Given the description of an element on the screen output the (x, y) to click on. 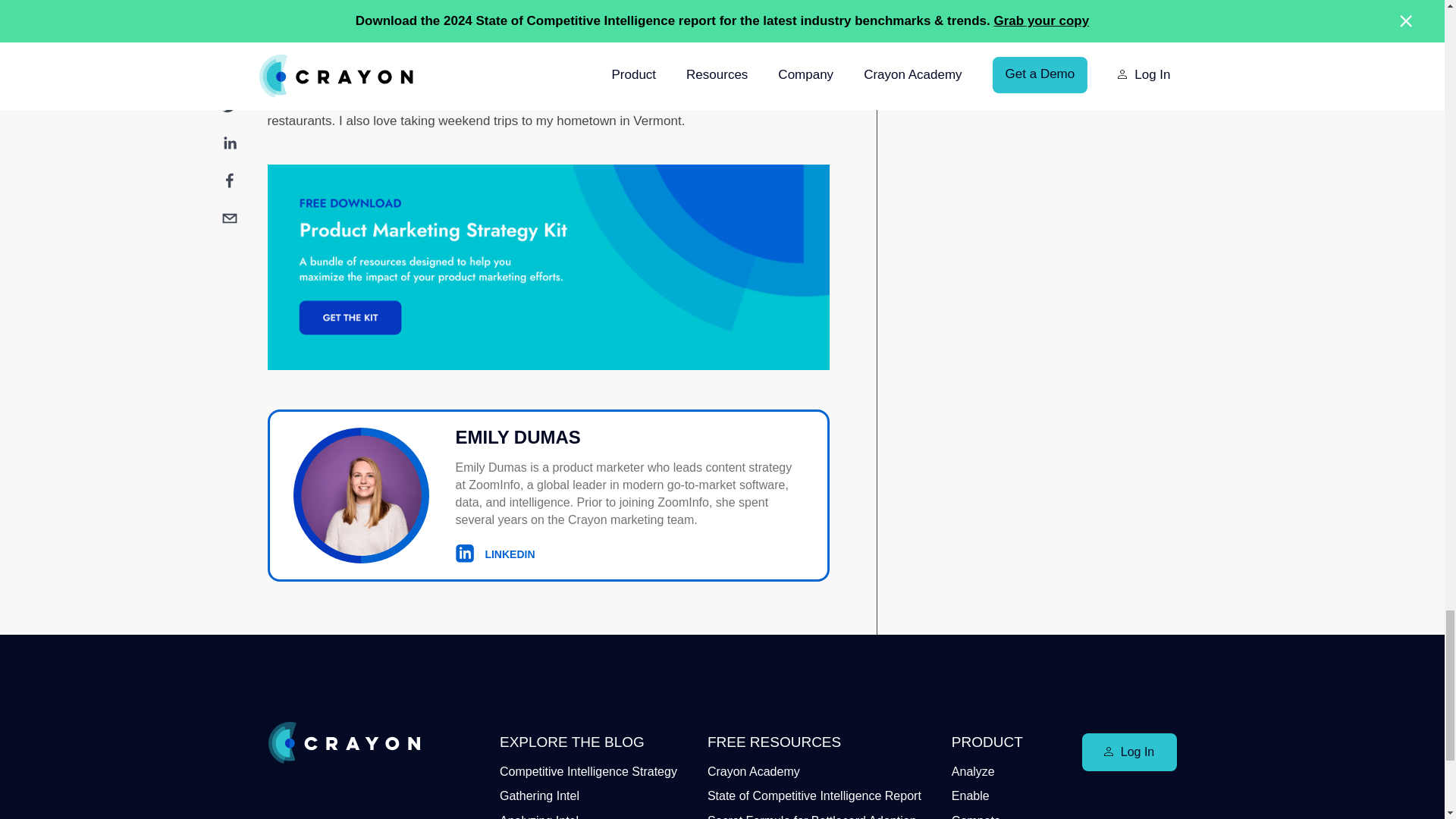
EMILY DUMAS (628, 438)
LINKEDIN (494, 553)
